Given the description of an element on the screen output the (x, y) to click on. 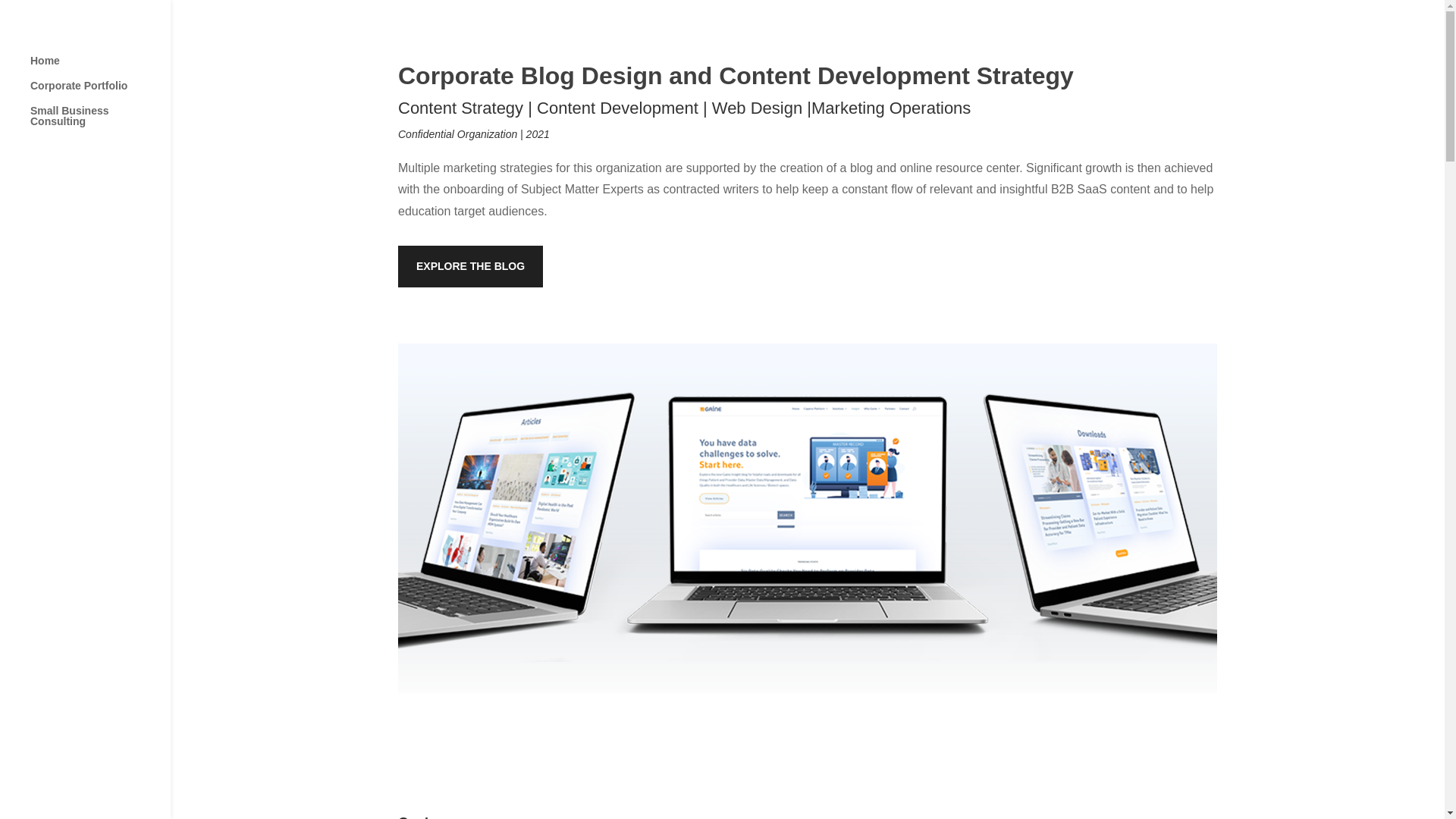
EXPLORE THE BLOG (470, 266)
Small Business Consulting (100, 122)
Corporate Portfolio (100, 92)
Home (100, 67)
